Given the description of an element on the screen output the (x, y) to click on. 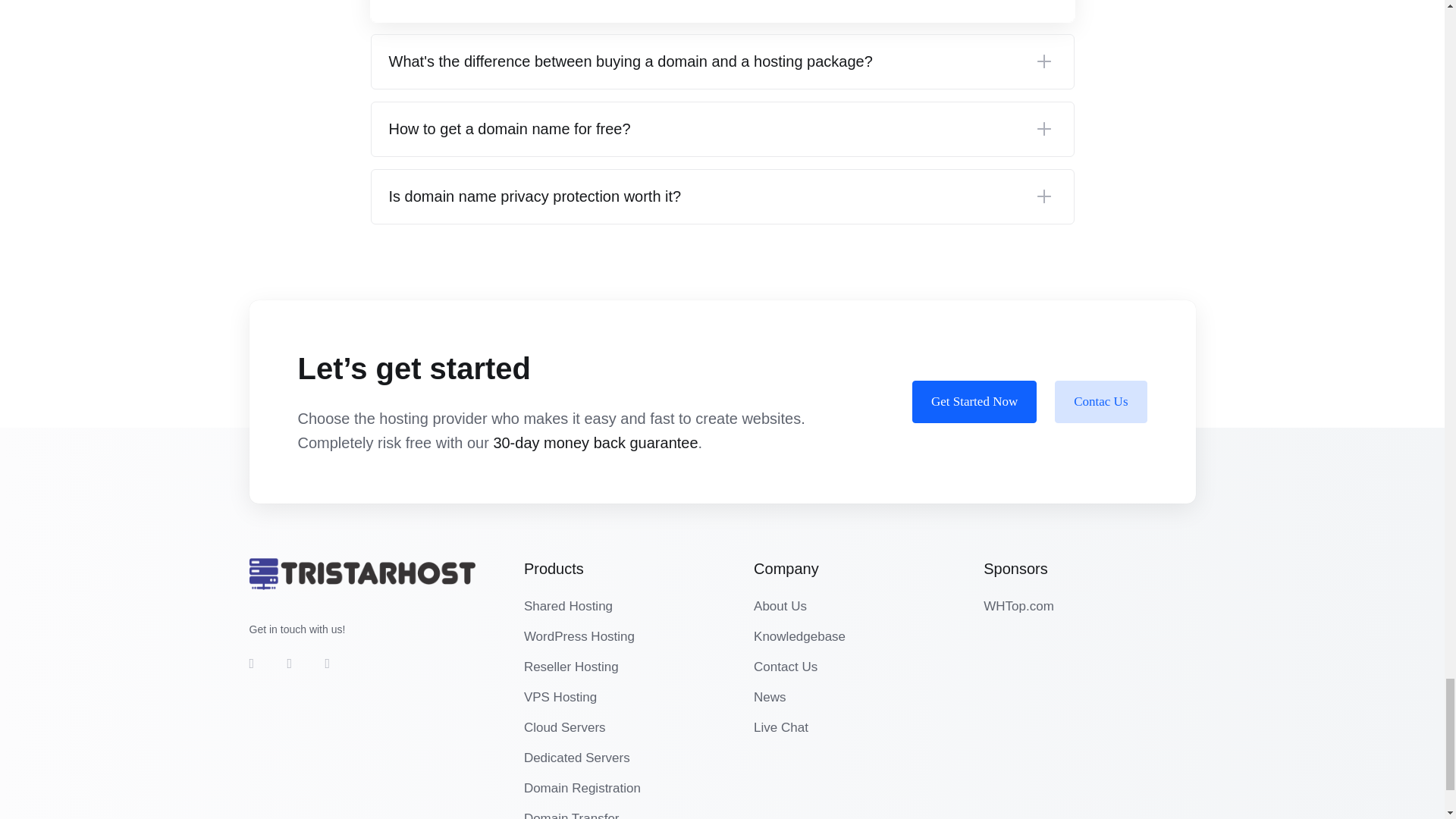
Tristarhost (361, 573)
